Given the description of an element on the screen output the (x, y) to click on. 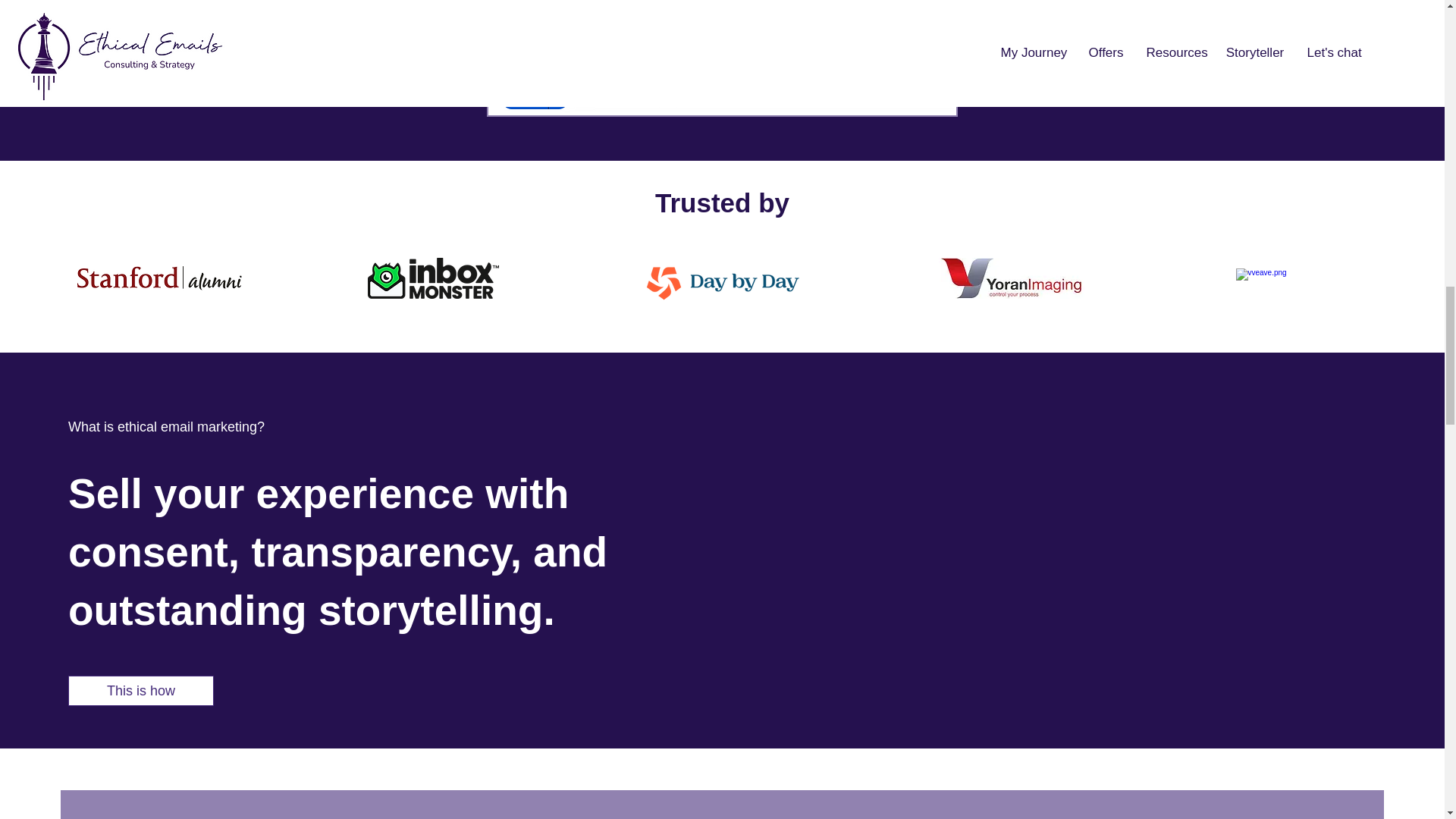
This is how (141, 690)
